Given the description of an element on the screen output the (x, y) to click on. 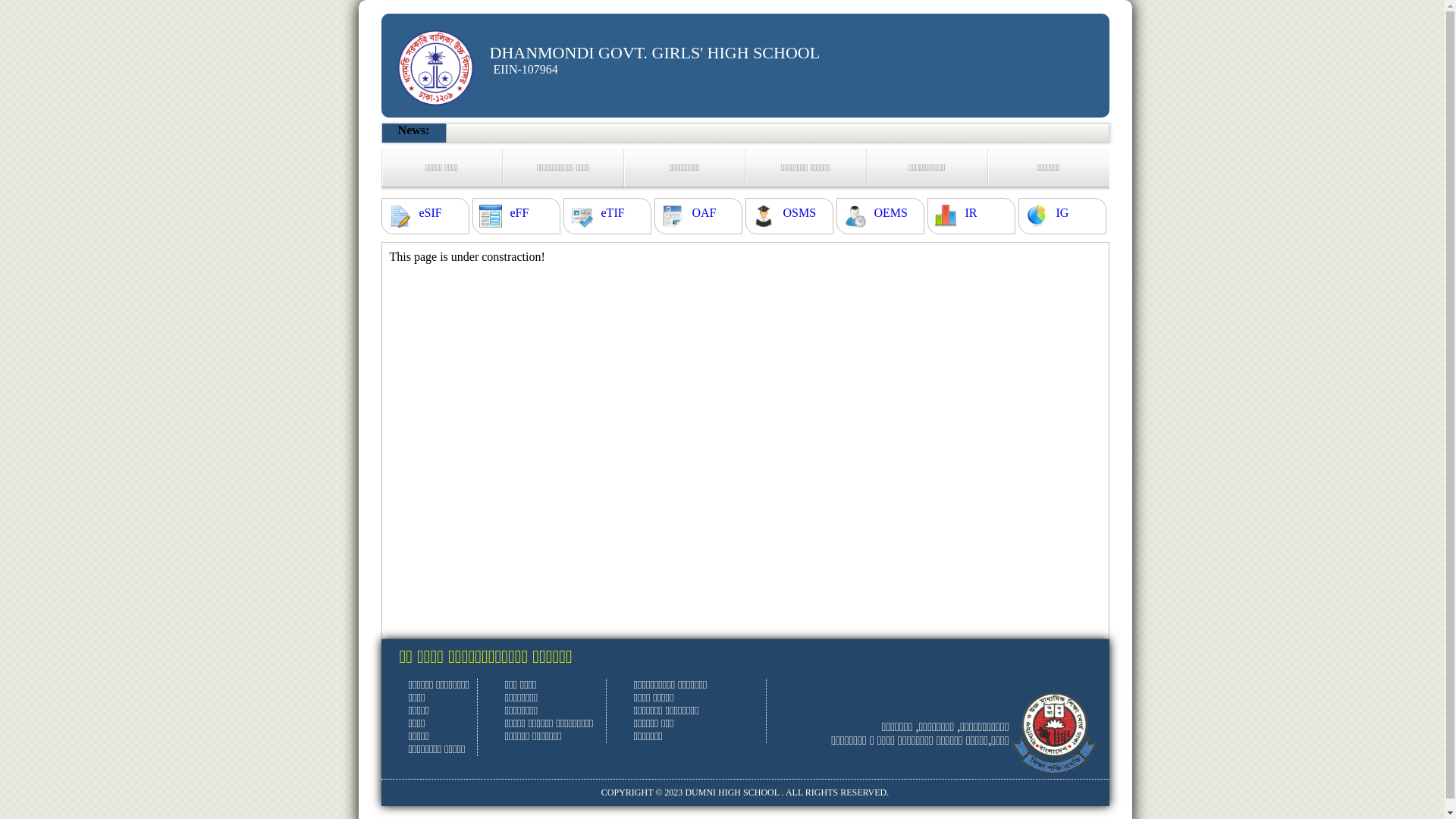
IG Element type: text (1061, 212)
OAF Element type: text (703, 212)
IR Element type: text (970, 212)
OSMS Element type: text (798, 212)
eFF Element type: text (518, 212)
DUMNI HIGH SCHOOL Element type: text (731, 792)
eSIF Element type: text (429, 212)
eTIF Element type: text (612, 212)
OEMS Element type: text (889, 212)
